Given the description of an element on the screen output the (x, y) to click on. 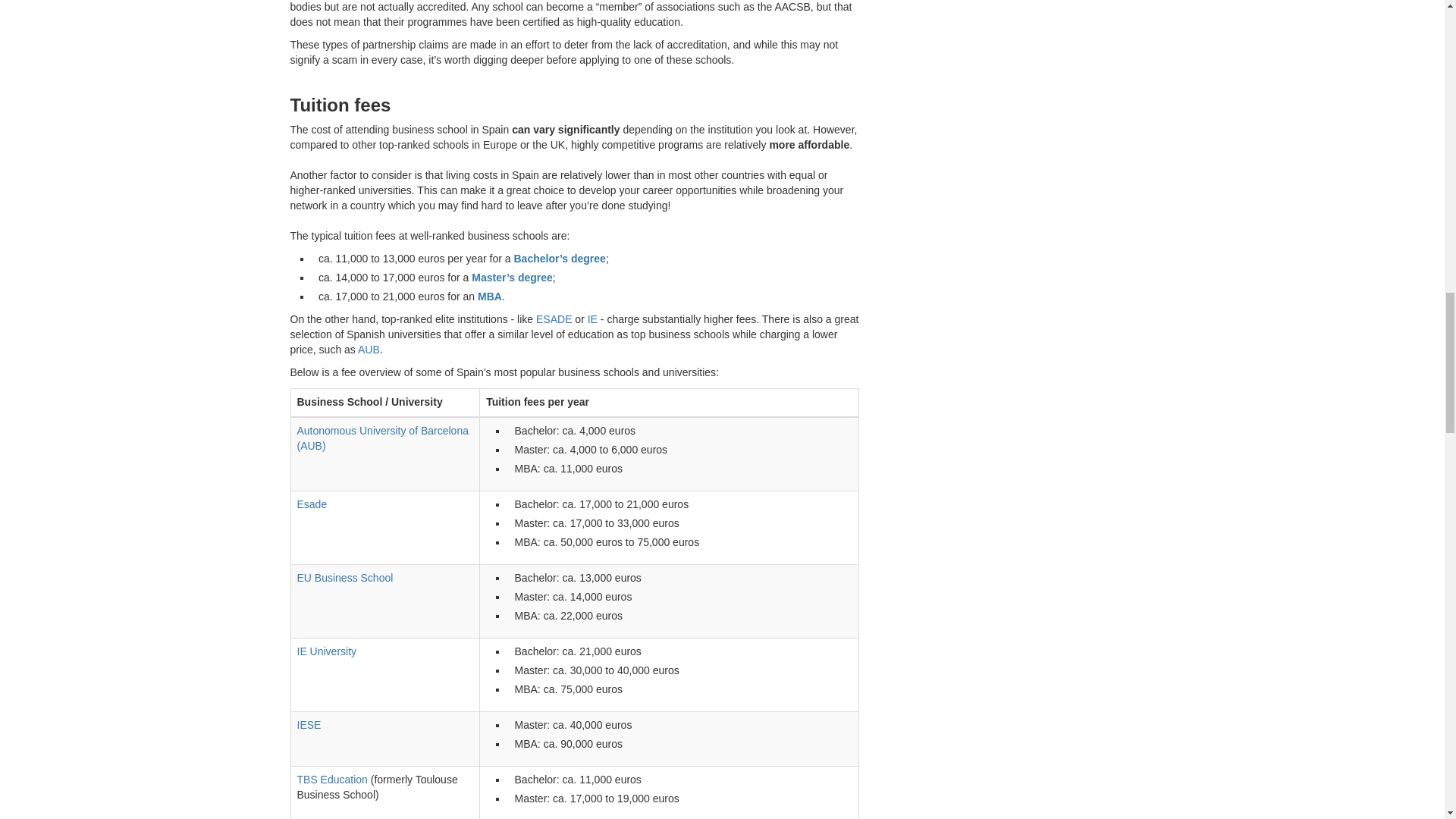
ESADE (553, 318)
TBS Education (332, 779)
EU Business School (345, 577)
MBA (489, 296)
IESE (309, 725)
Esade (312, 503)
IE University (326, 651)
AUB (369, 349)
